Given the description of an element on the screen output the (x, y) to click on. 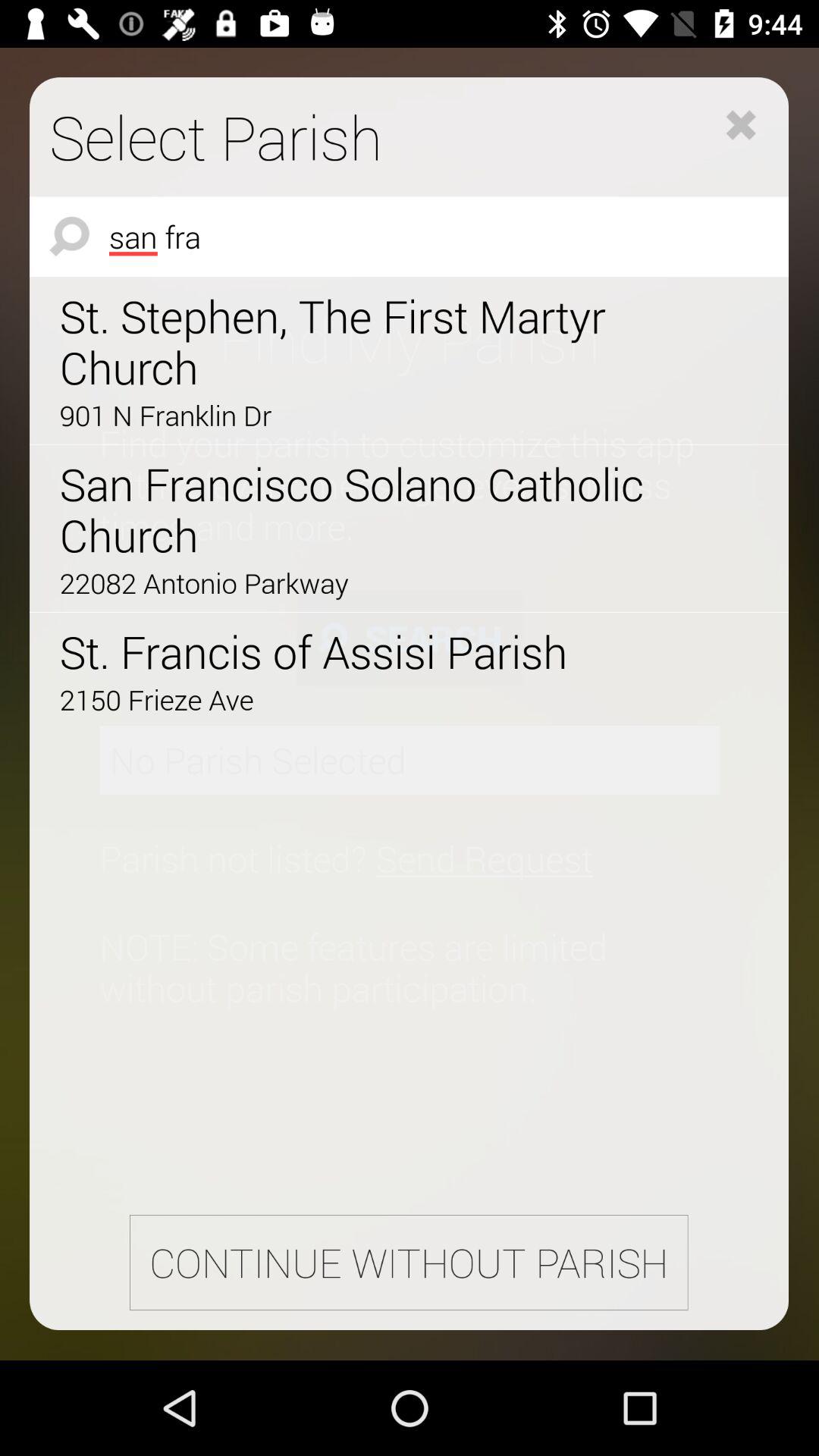
select san francisco solano (366, 509)
